Given the description of an element on the screen output the (x, y) to click on. 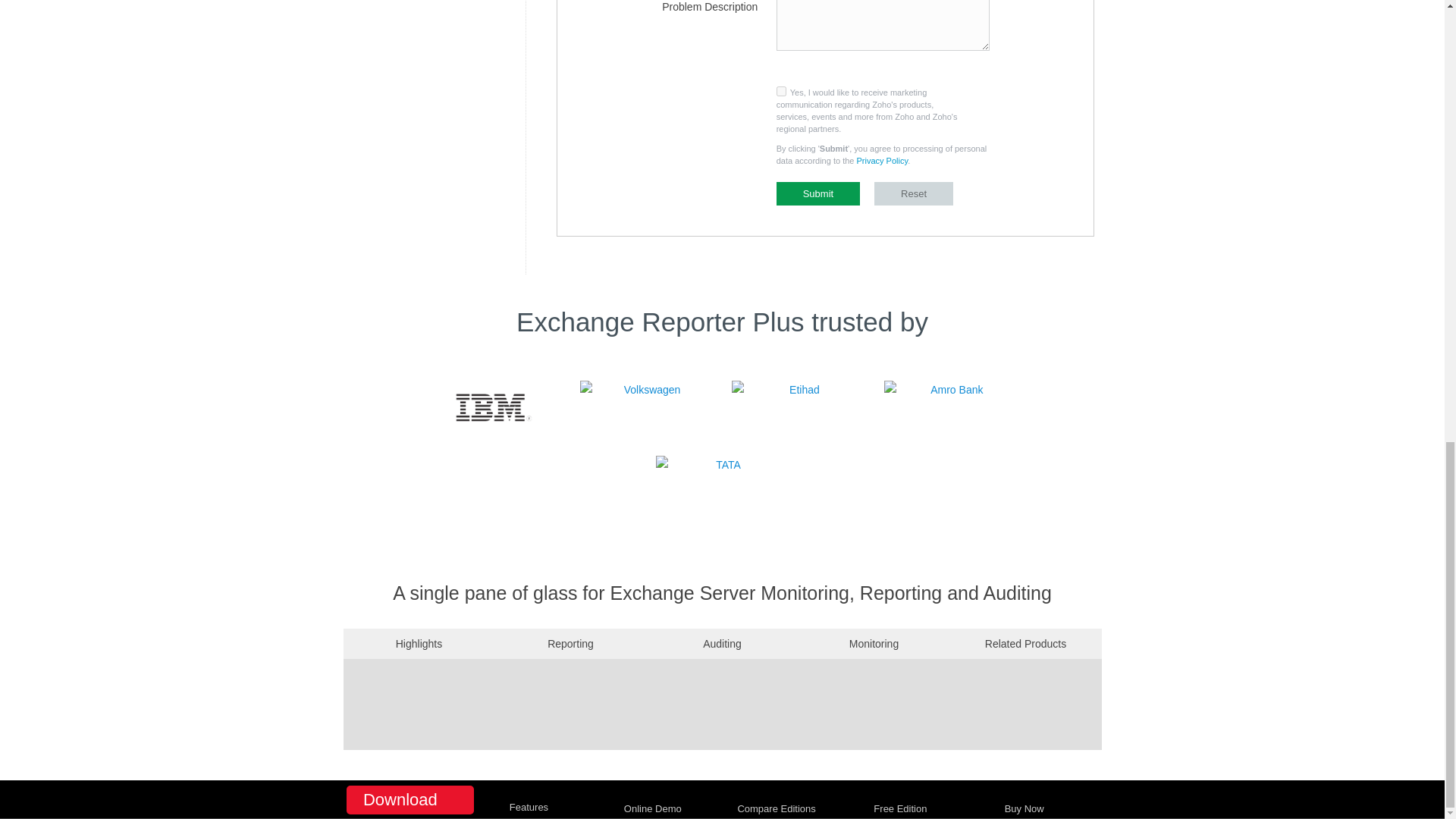
Reset (914, 193)
Submit (818, 193)
on (781, 91)
